Given the description of an element on the screen output the (x, y) to click on. 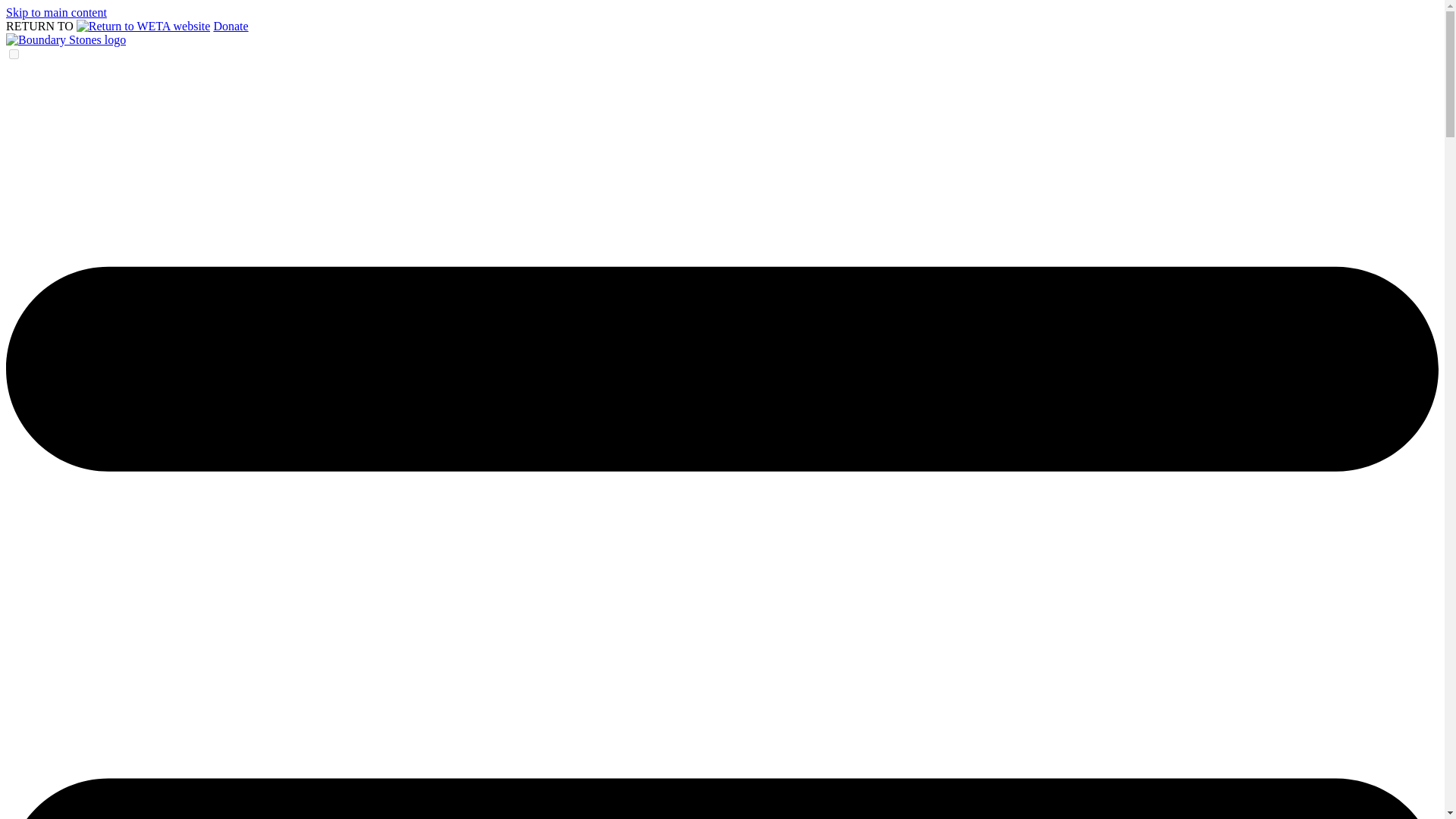
expanded (13, 53)
Home (65, 39)
Skip to main content (55, 11)
Donate (229, 25)
